Given the description of an element on the screen output the (x, y) to click on. 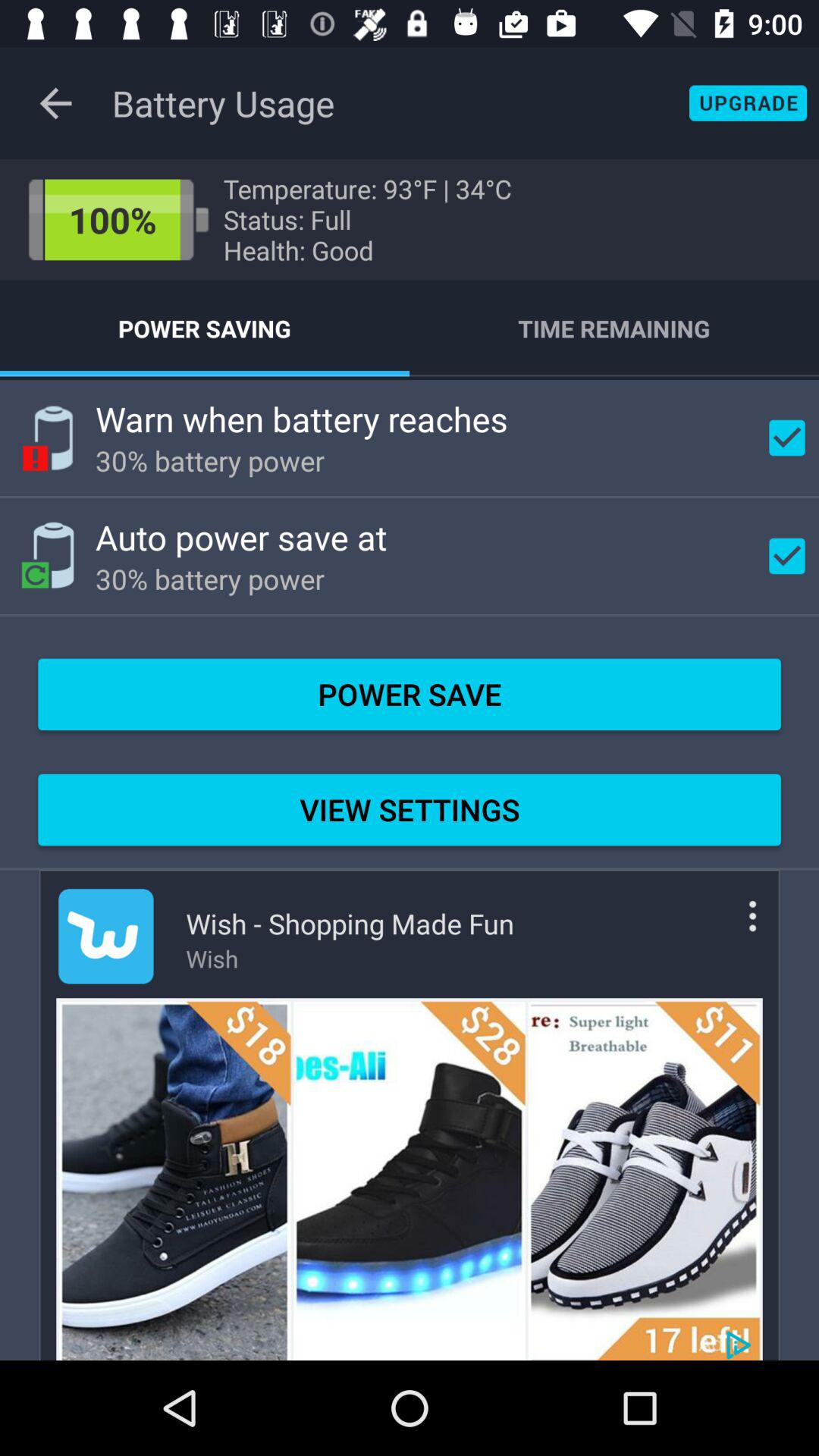
choose logo (105, 936)
